Given the description of an element on the screen output the (x, y) to click on. 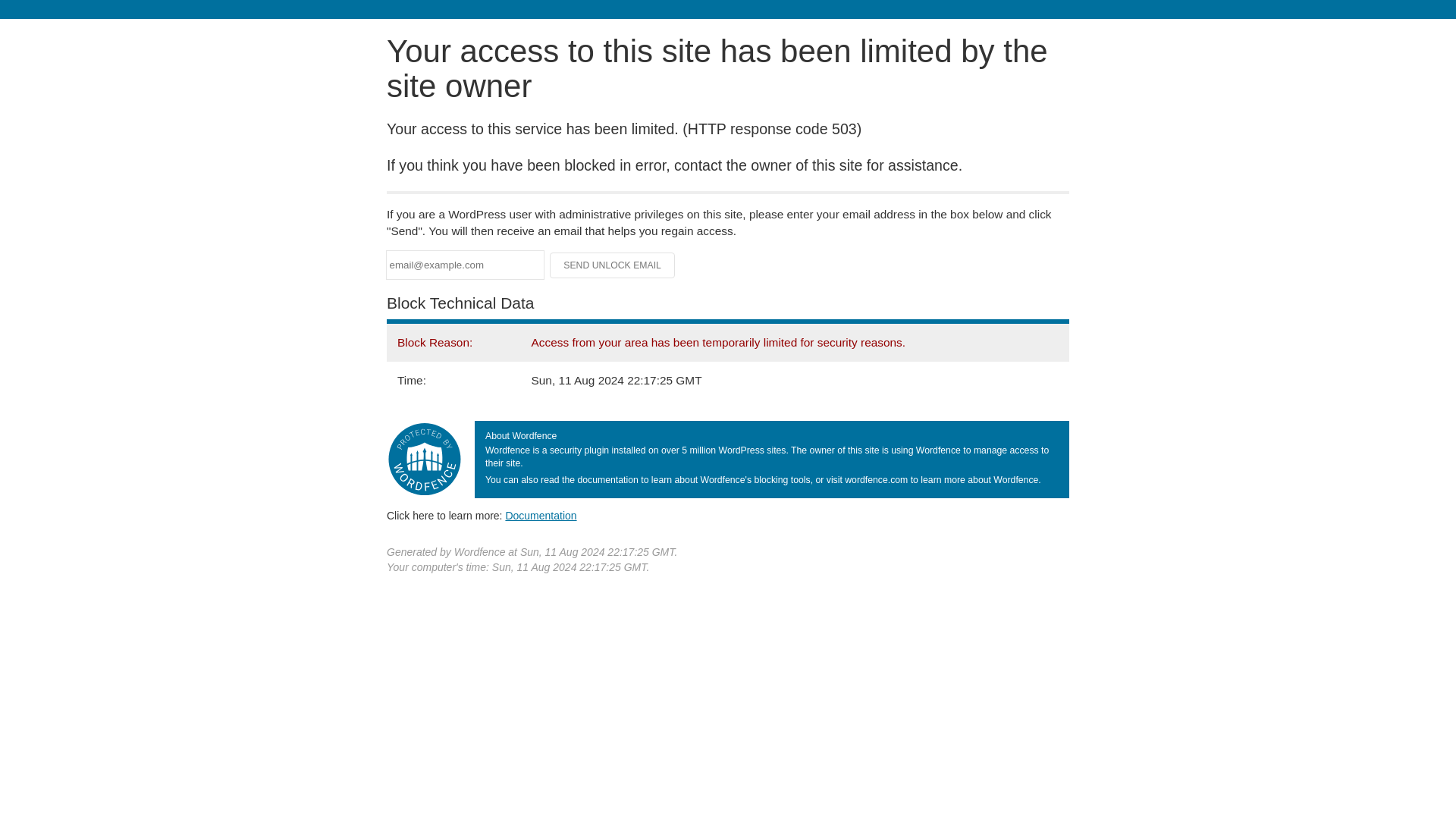
Send Unlock Email (612, 265)
Send Unlock Email (612, 265)
Documentation (540, 515)
